Given the description of an element on the screen output the (x, y) to click on. 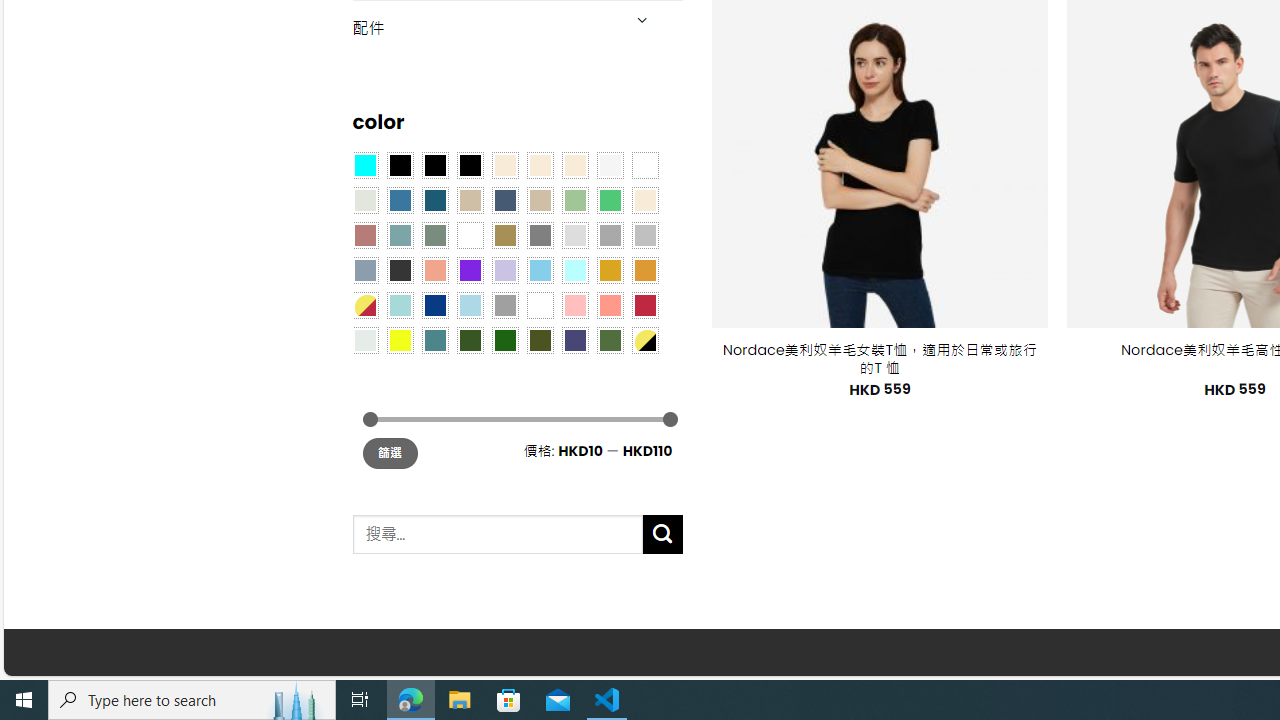
Cream (574, 164)
